Given the description of an element on the screen output the (x, y) to click on. 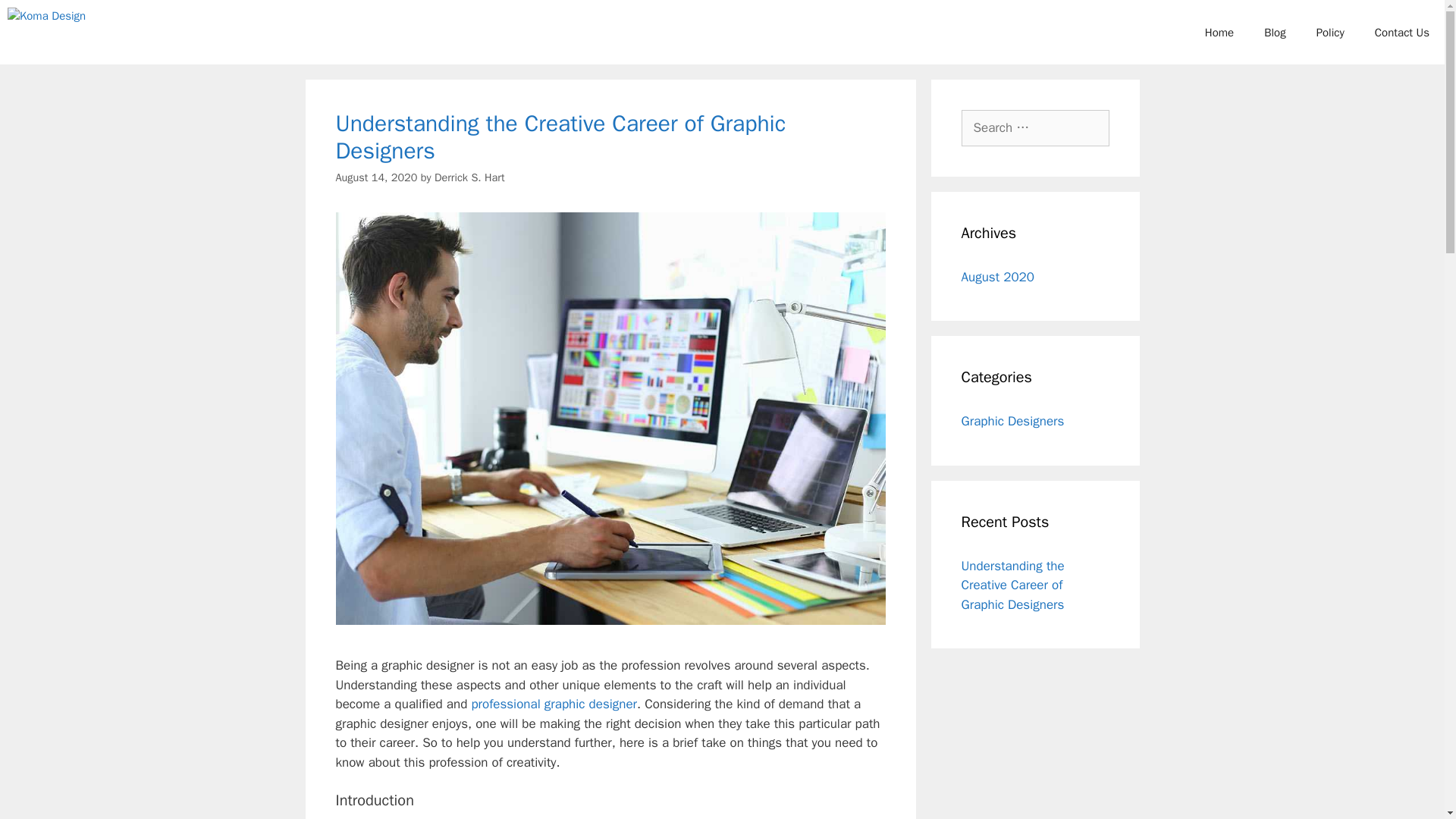
View all posts by Derrick S. Hart (469, 177)
Search (35, 18)
August 14, 2020 (375, 177)
10:49 am (375, 177)
Derrick S. Hart (469, 177)
Search for: (1034, 127)
Koma Design (46, 32)
Understanding the Creative Career of Graphic Designers (1012, 584)
professional graphic designer (553, 703)
Understanding the Creative Career of Graphic Designers (560, 136)
Policy (1330, 31)
Home (1219, 31)
Graphic Designers (1012, 421)
August 2020 (996, 276)
Koma Design (50, 32)
